Given the description of an element on the screen output the (x, y) to click on. 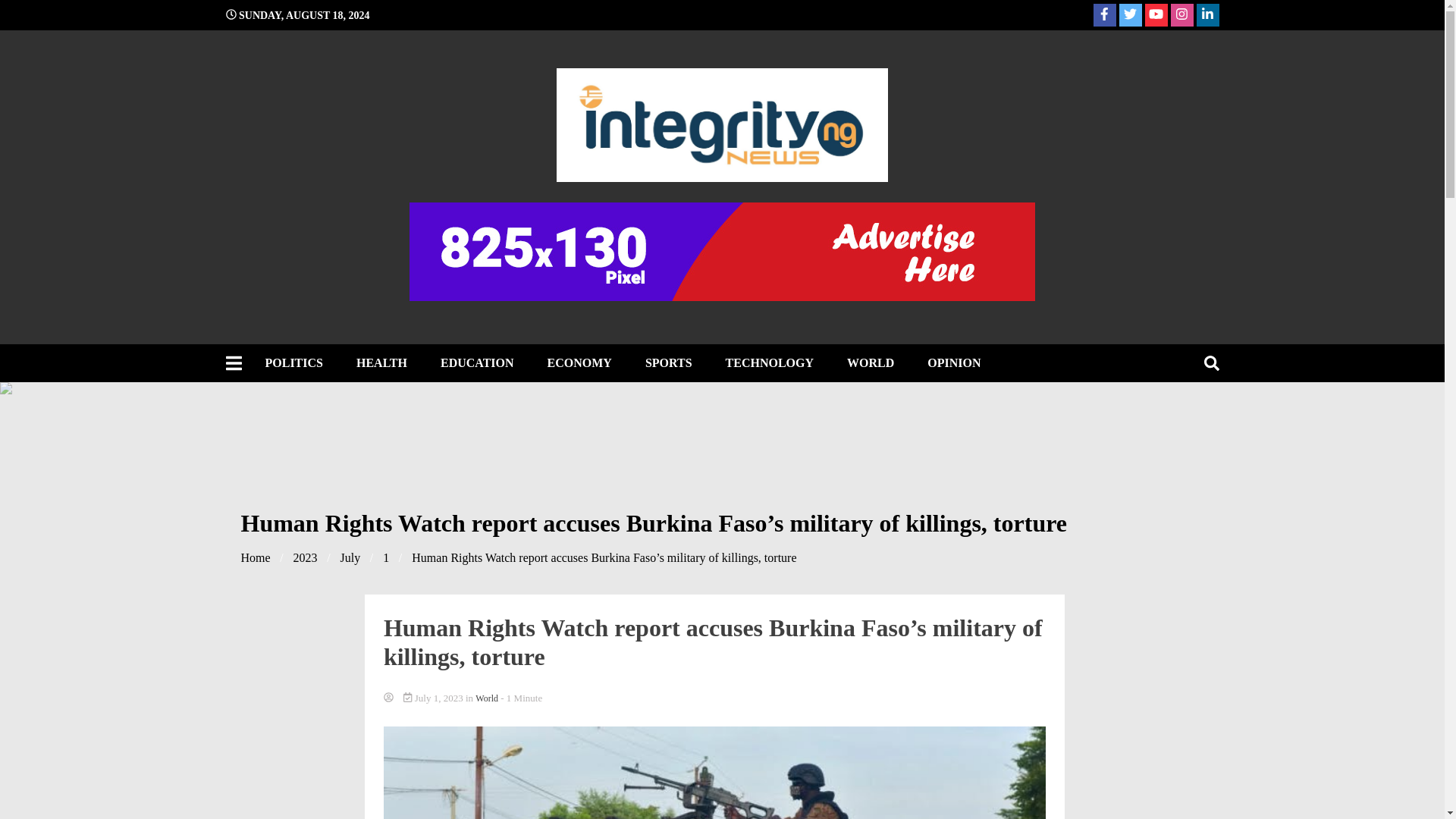
EDUCATION (477, 362)
Estimated Reading Time of Article (520, 697)
TECHNOLOGY (769, 362)
OPINION (953, 362)
WORLD (869, 362)
SPORTS (668, 362)
ECONOMY (579, 362)
HEALTH (381, 362)
POLITICS (293, 362)
